Given the description of an element on the screen output the (x, y) to click on. 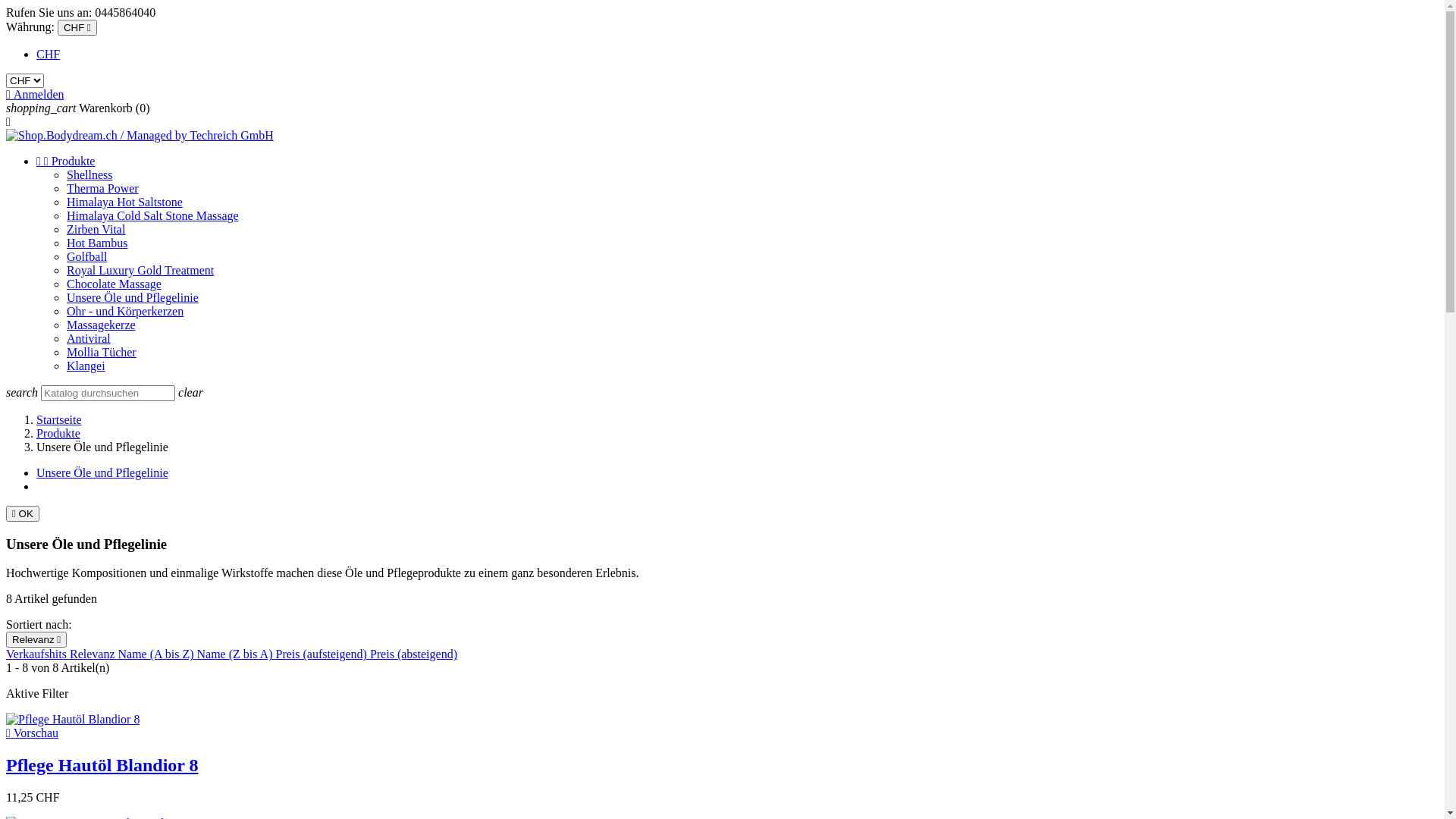
Startseite Element type: text (58, 419)
Preis (absteigend) Element type: text (413, 653)
Produkte Element type: text (58, 432)
Name (A bis Z) Element type: text (157, 653)
Himalaya Hot Saltstone Element type: text (124, 201)
Preis (aufsteigend) Element type: text (322, 653)
Therma Power Element type: text (102, 188)
Massagekerze Element type: text (100, 324)
Royal Luxury Gold Treatment Element type: text (139, 269)
Verkaufshits Element type: text (37, 653)
Relevanz Element type: text (93, 653)
CHF Element type: text (47, 53)
Antiviral Element type: text (88, 338)
Zirben Vital Element type: text (95, 228)
Chocolate Massage Element type: text (113, 283)
Golfball Element type: text (86, 256)
Himalaya Cold Salt Stone Massage Element type: text (152, 215)
Shellness Element type: text (89, 174)
Klangei Element type: text (85, 365)
Name (Z bis A) Element type: text (236, 653)
Hot Bambus Element type: text (96, 242)
